Given the description of an element on the screen output the (x, y) to click on. 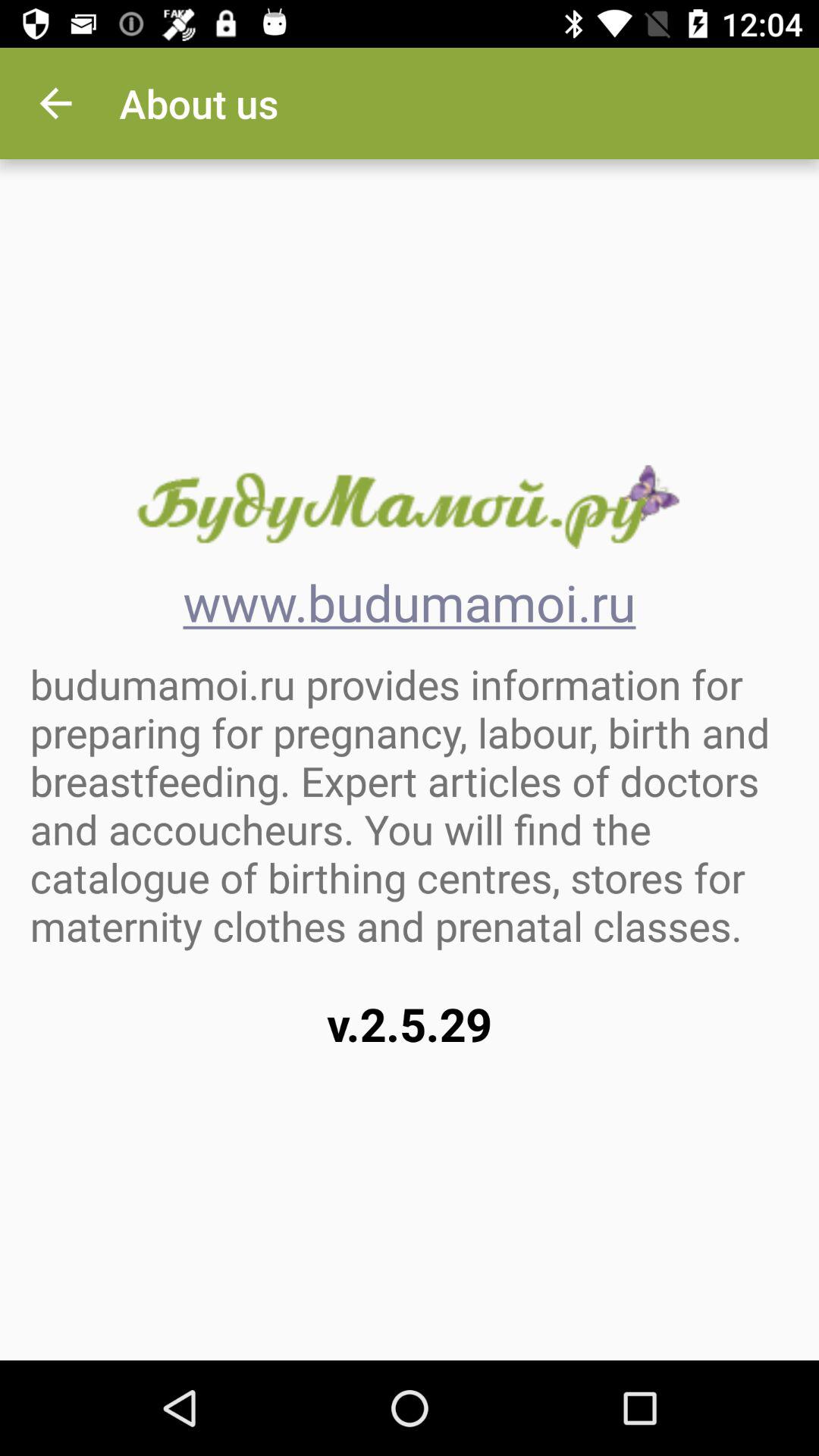
tap the icon below about us item (409, 506)
